Given the description of an element on the screen output the (x, y) to click on. 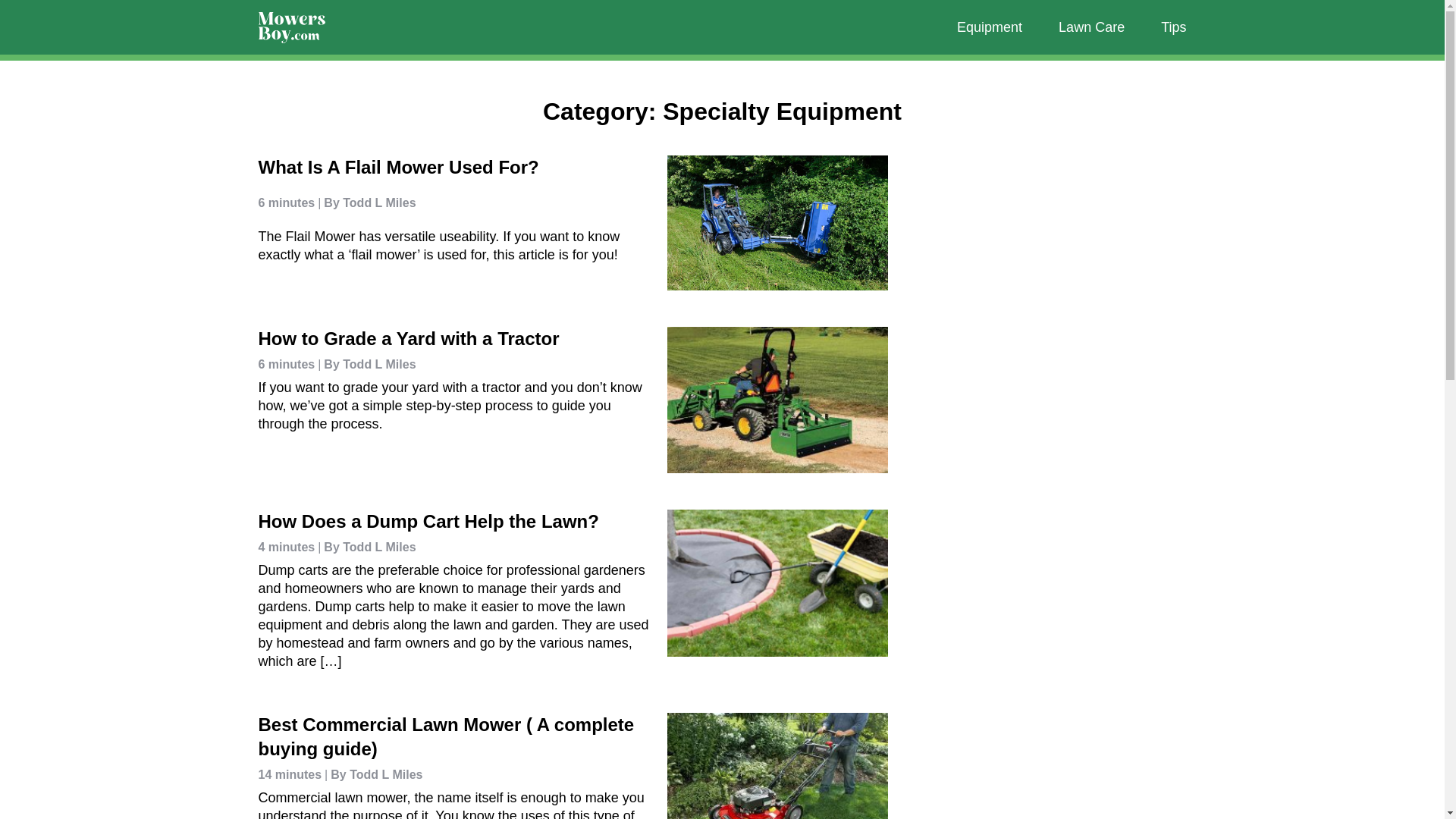
Tips (1173, 27)
What Is A Flail Mower Used For? (397, 167)
By Todd L Miles (365, 207)
By Todd L Miles (365, 547)
How to Grade a Yard with a Tractor (408, 338)
By Todd L Miles (365, 364)
By Todd L Miles (373, 774)
How Does a Dump Cart Help the Lawn? (427, 521)
Equipment (989, 27)
Lawn Care (1091, 27)
